Given the description of an element on the screen output the (x, y) to click on. 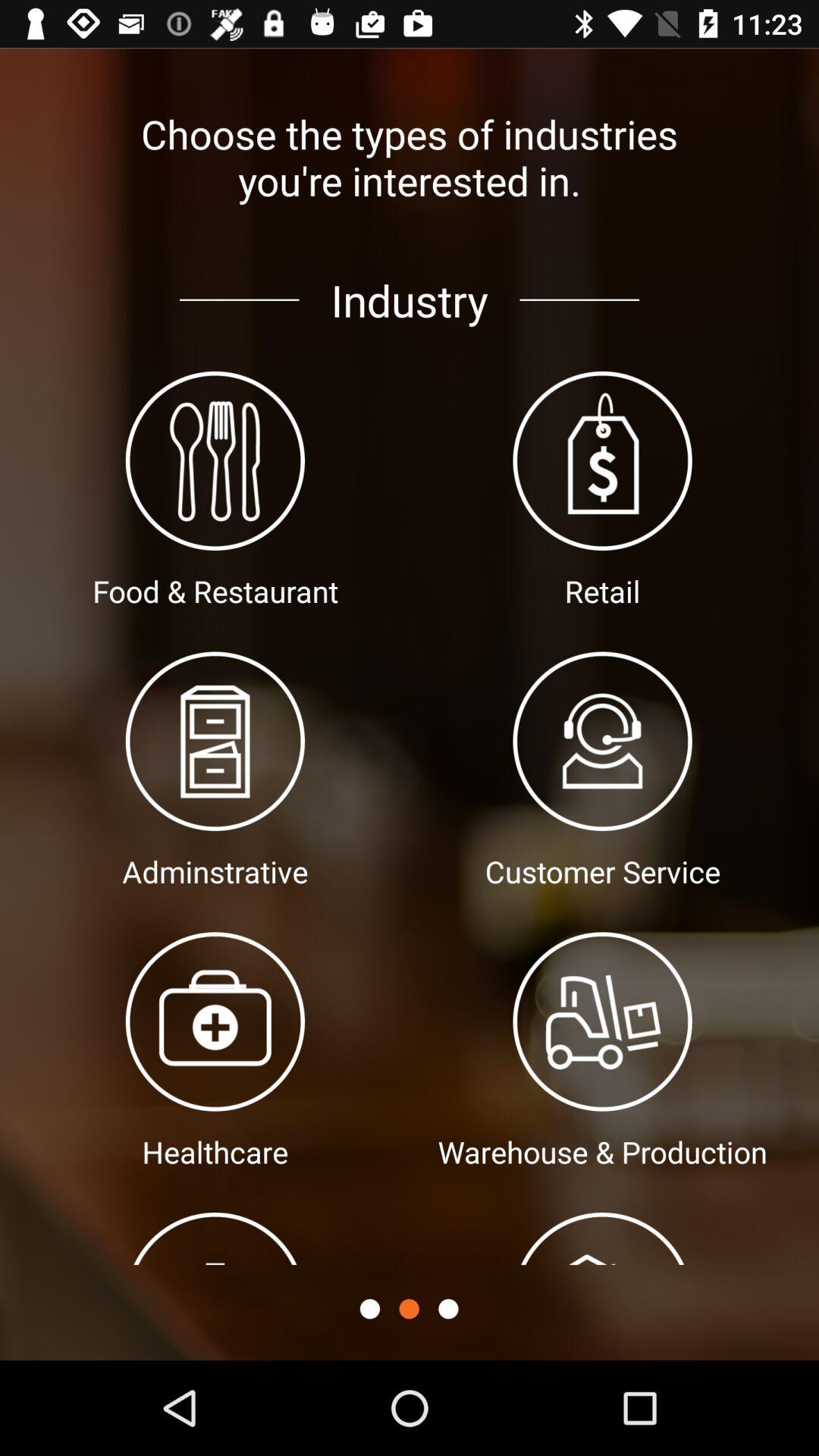
go to first page (369, 1308)
